Given the description of an element on the screen output the (x, y) to click on. 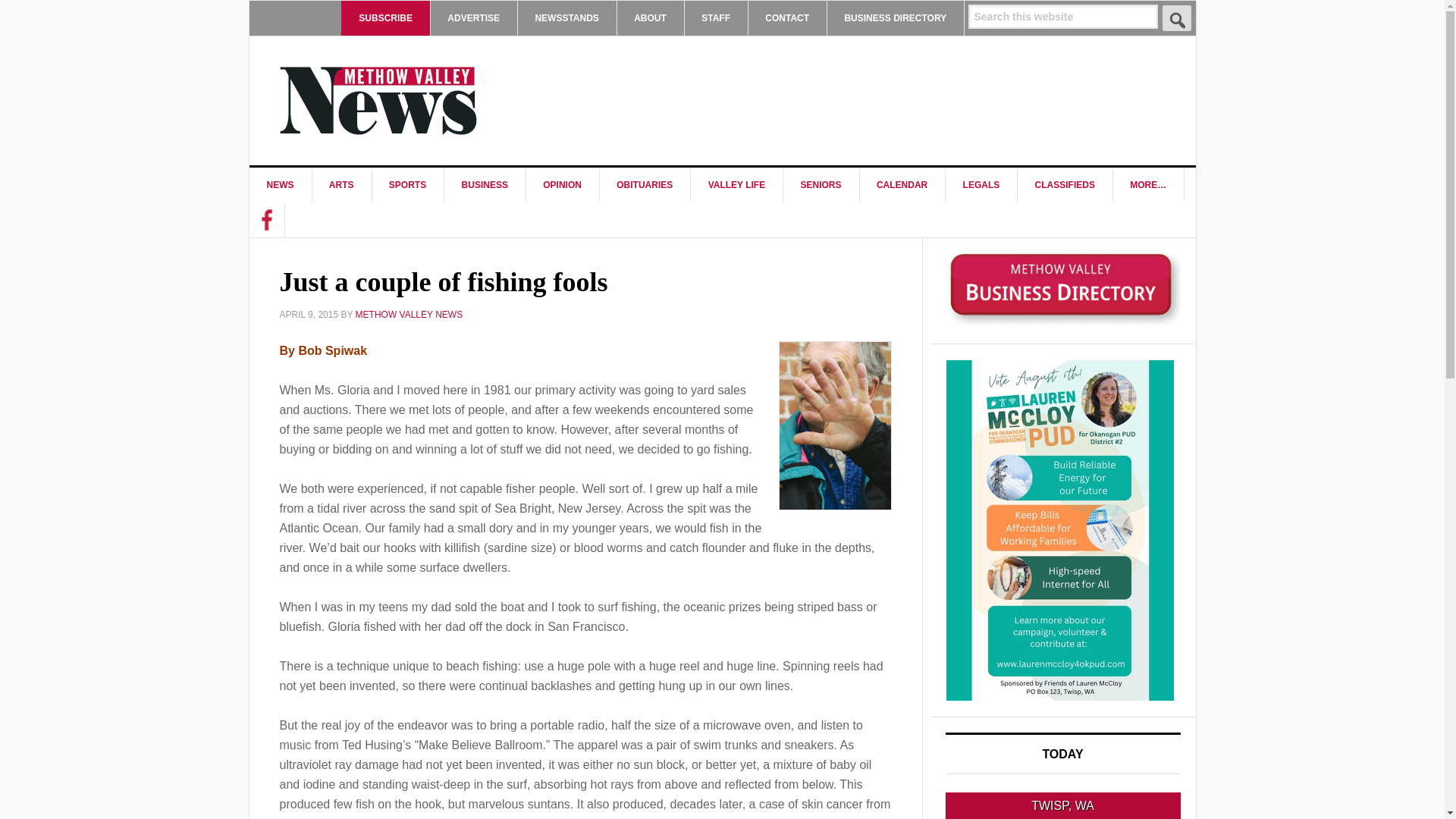
NEWS (279, 184)
ADVERTISE (473, 18)
SPORTS (407, 184)
METHOW VALLEY NEWS (377, 100)
CLASSIFIEDS (1065, 184)
NEWSSTANDS (565, 18)
VALLEY LIFE (737, 184)
BUSINESS (484, 184)
CALENDAR (901, 184)
ABOUT (649, 18)
